Given the description of an element on the screen output the (x, y) to click on. 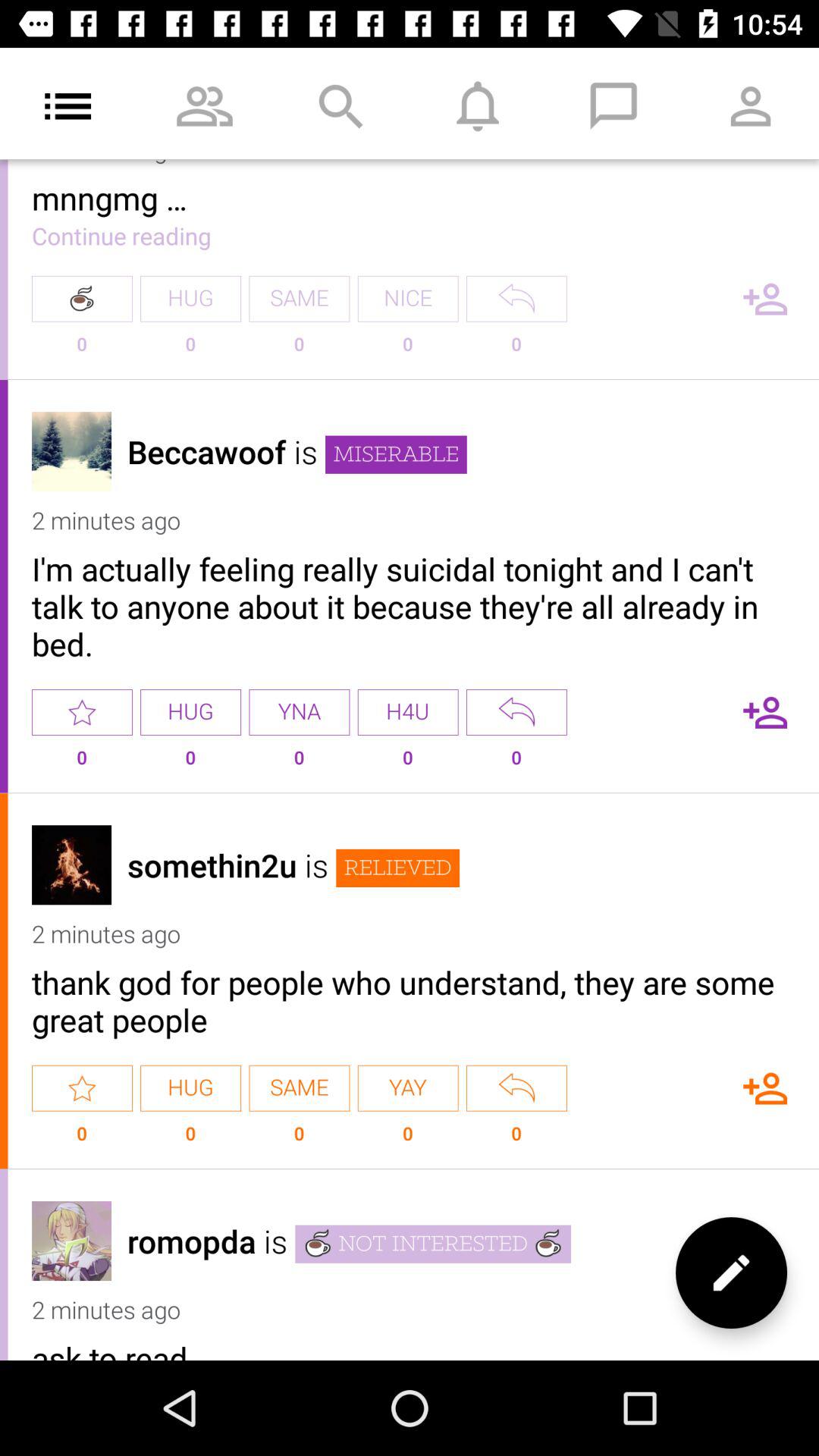
add friend (765, 712)
